Given the description of an element on the screen output the (x, y) to click on. 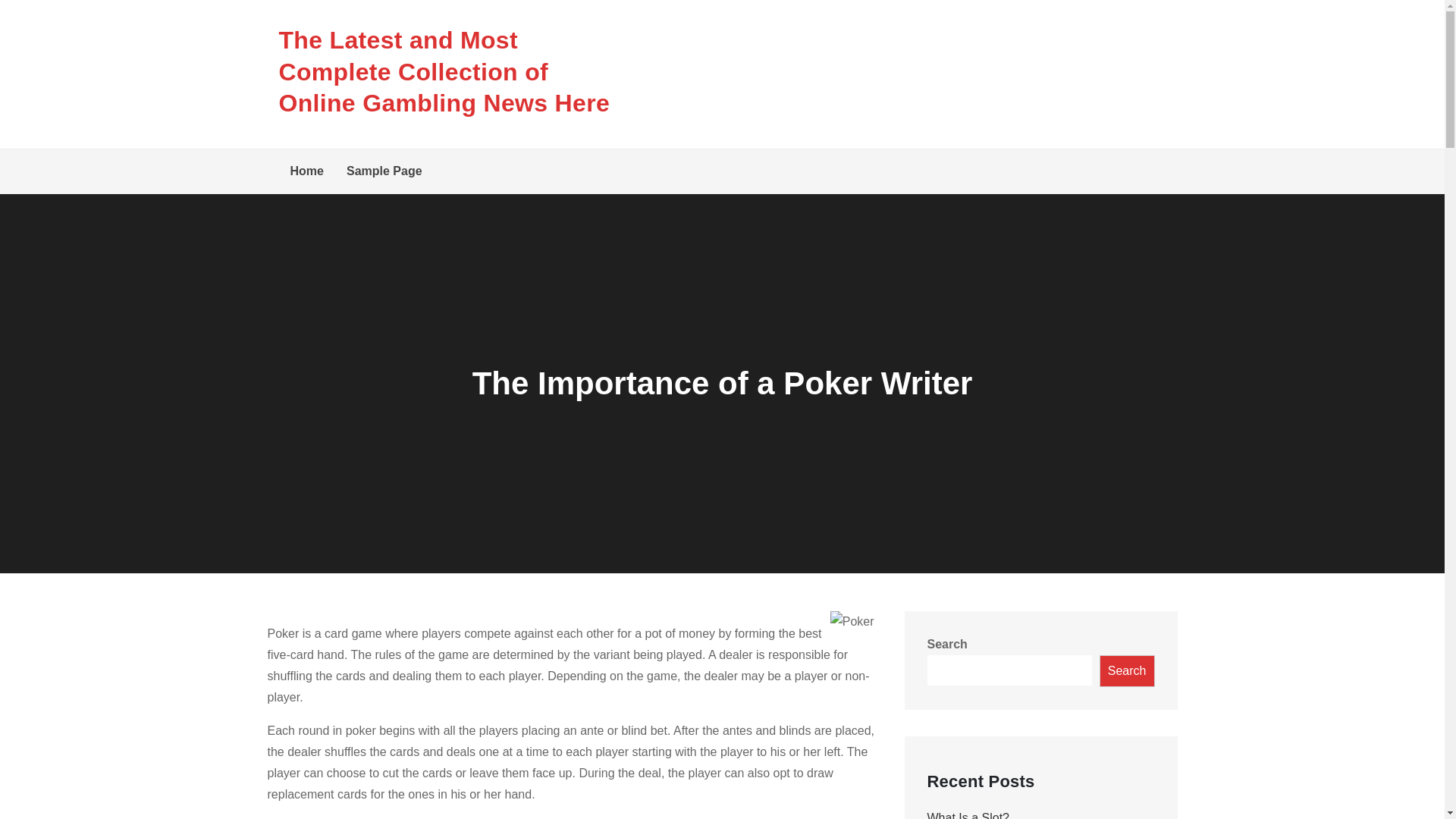
What Is a Slot? (967, 815)
Search (1126, 671)
Sample Page (383, 171)
Home (306, 171)
